Given the description of an element on the screen output the (x, y) to click on. 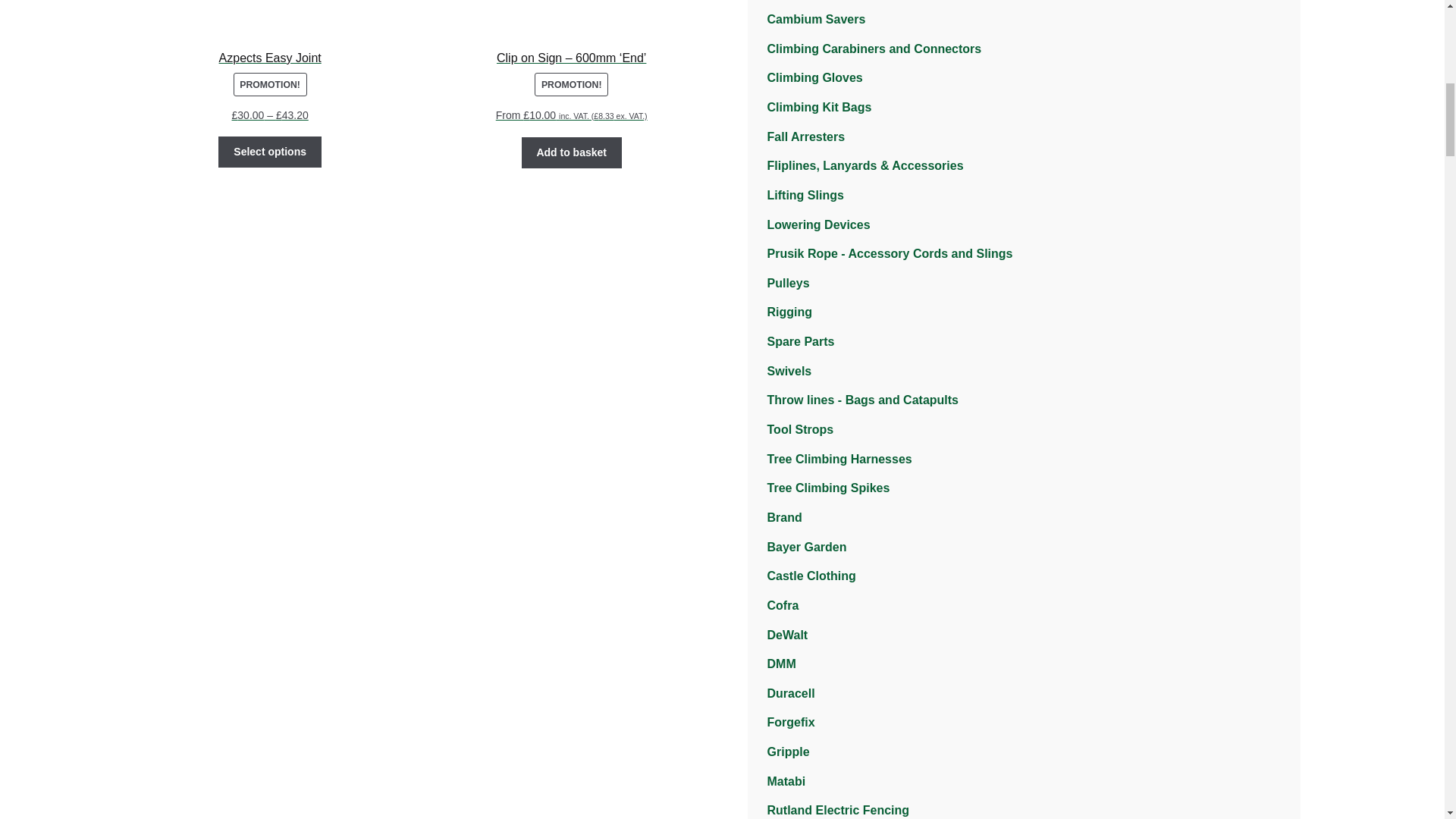
Add to basket (571, 152)
Climbing Gloves (815, 77)
Fall Arresters (806, 136)
Cambium Savers (816, 19)
Lifting Slings (805, 195)
Select options (269, 151)
Lowering Devices (818, 224)
Climbing Kit Bags (819, 106)
Climbing Carabiners and Connectors (874, 48)
